Given the description of an element on the screen output the (x, y) to click on. 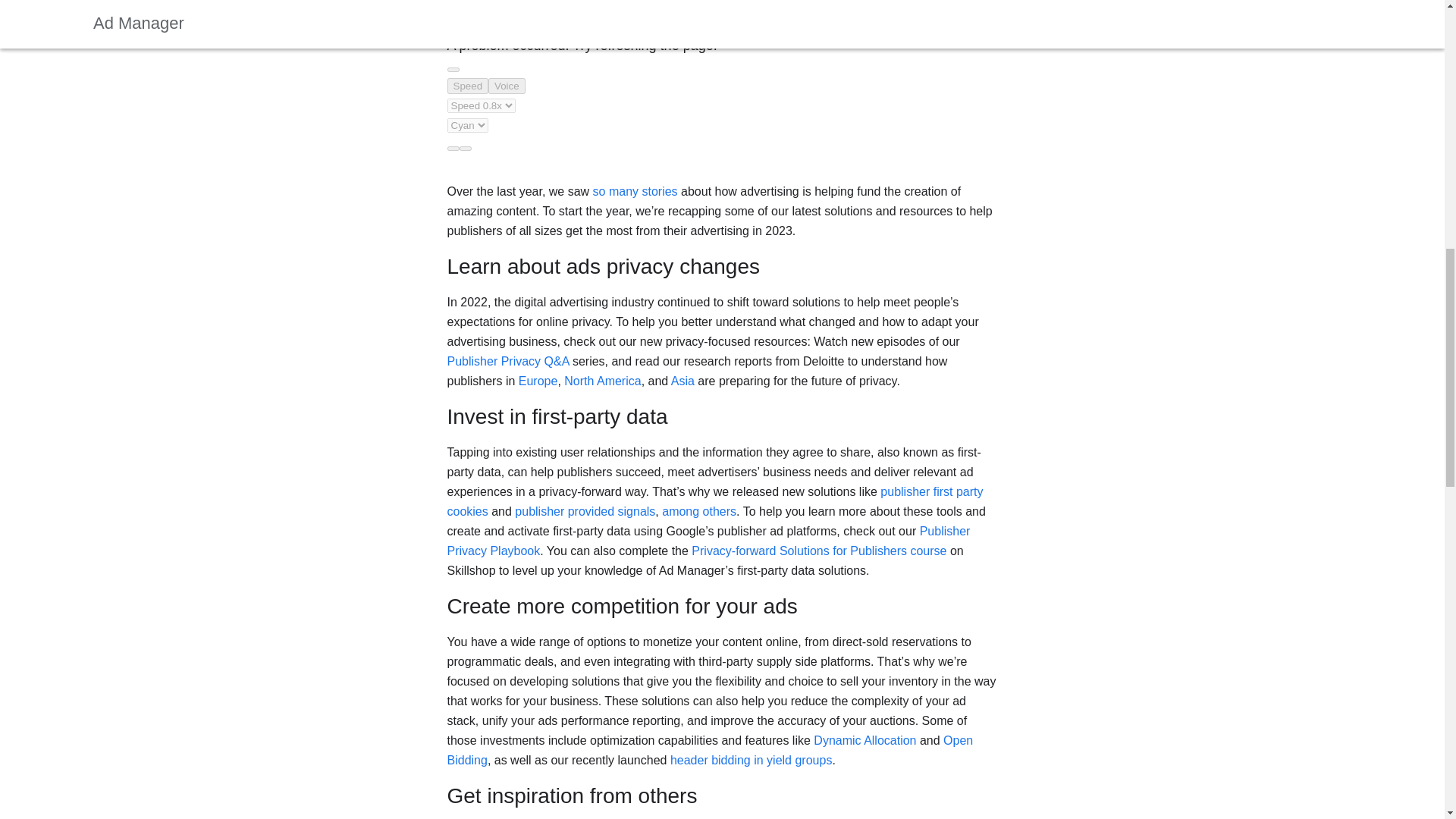
header bidding in yield groups (750, 759)
publisher first party cookies (715, 501)
among others (699, 511)
Asia (682, 380)
so many stories (635, 191)
Publisher Privacy Playbook (708, 540)
Open Bidding (710, 749)
Privacy-forward Solutions for Publishers course (818, 550)
publisher provided signals (585, 511)
Dynamic Allocation (864, 739)
Europe (537, 380)
North America (602, 380)
